Given the description of an element on the screen output the (x, y) to click on. 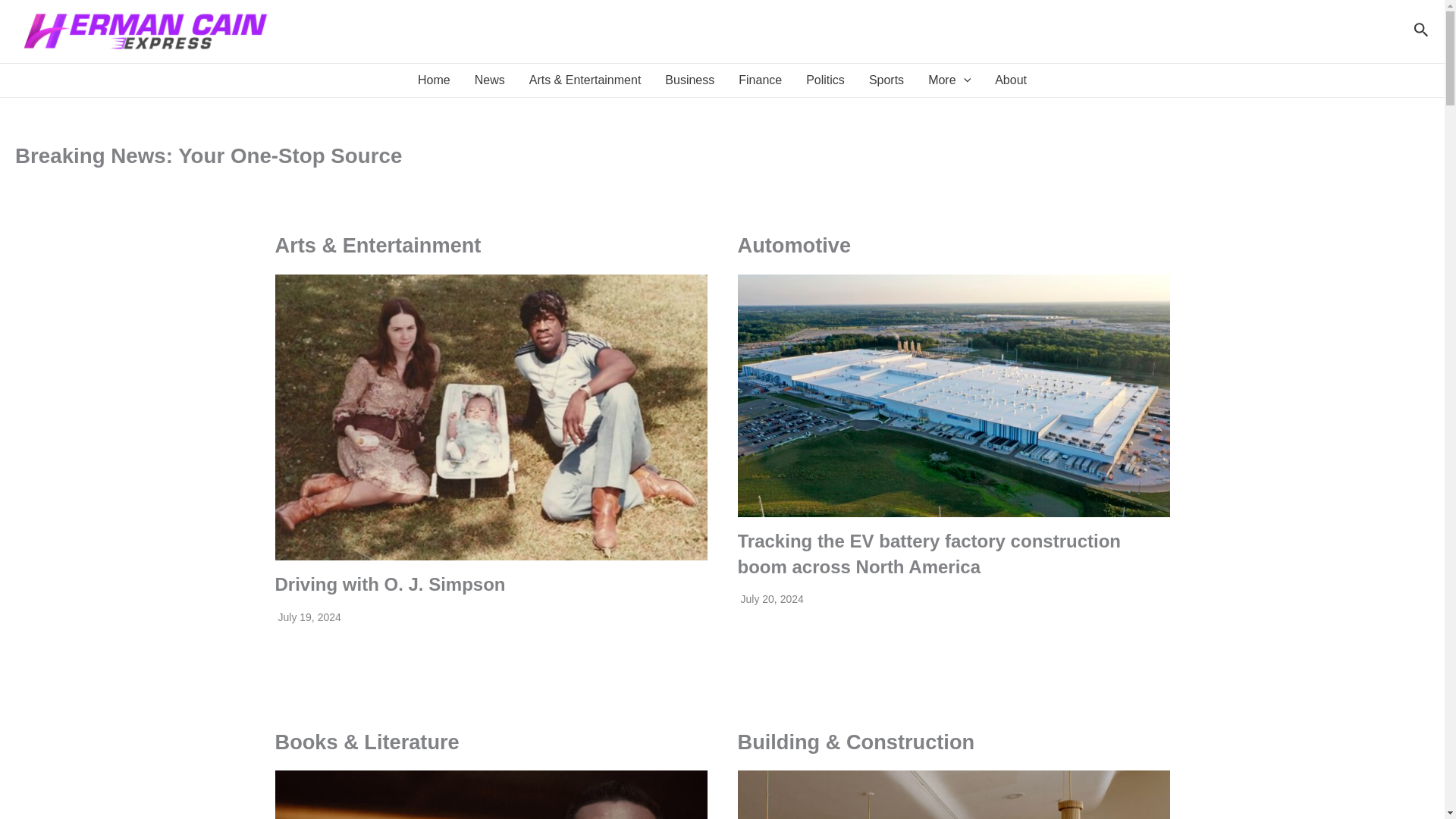
Politics (825, 80)
About (1010, 80)
News (489, 80)
Home (434, 80)
Business (689, 80)
More (948, 80)
Sports (886, 80)
Finance (759, 80)
